Given the description of an element on the screen output the (x, y) to click on. 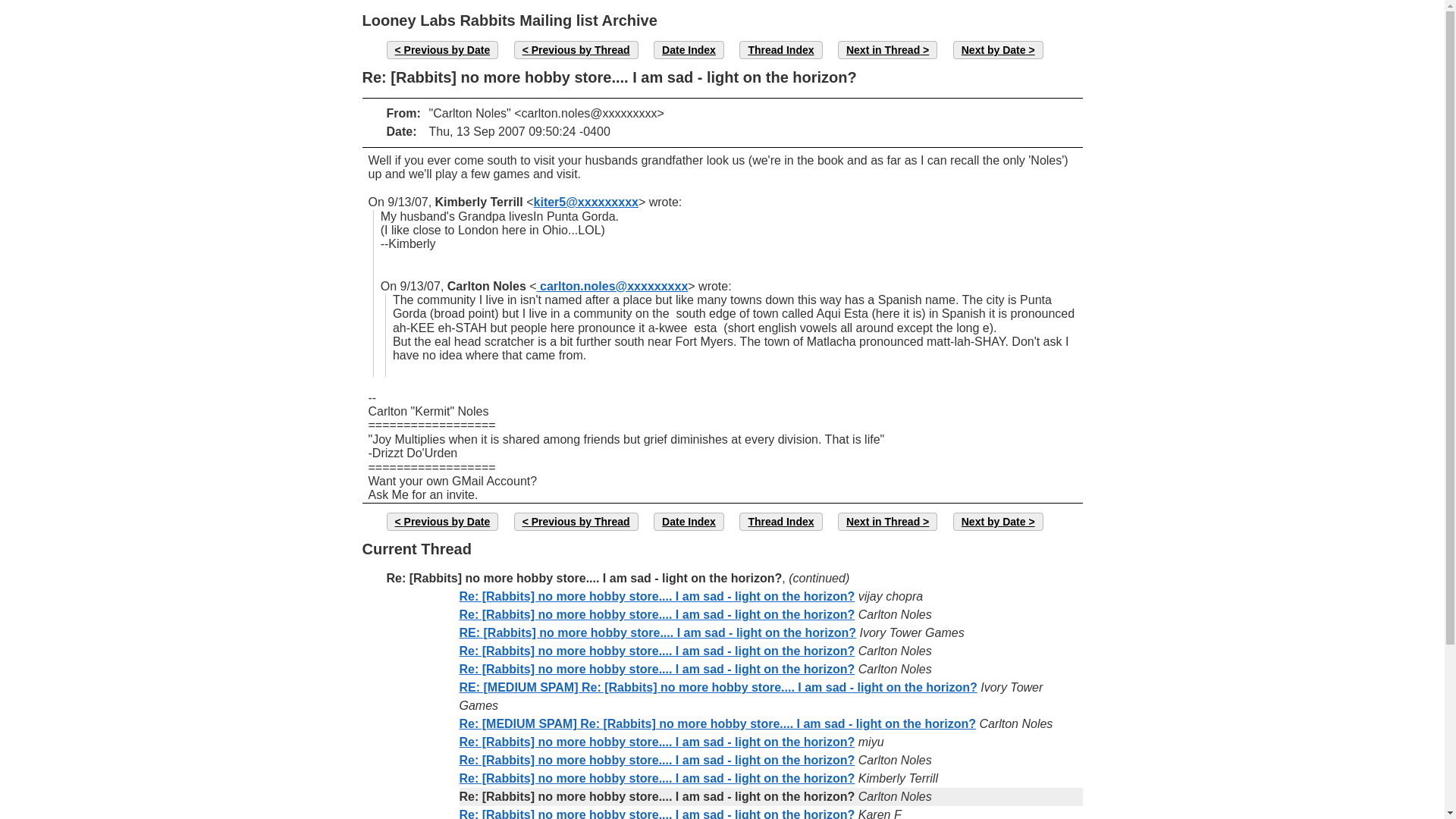
Date Index (688, 521)
Thread Index (780, 49)
Next by Date (998, 49)
Previous by Date (443, 521)
Date Index (688, 49)
Previous by Date (443, 49)
Previous by Thread (576, 521)
Thread Index (780, 521)
Next in Thread (887, 49)
Previous by Thread (576, 49)
Next in Thread (887, 521)
Next by Date (998, 521)
